Given the description of an element on the screen output the (x, y) to click on. 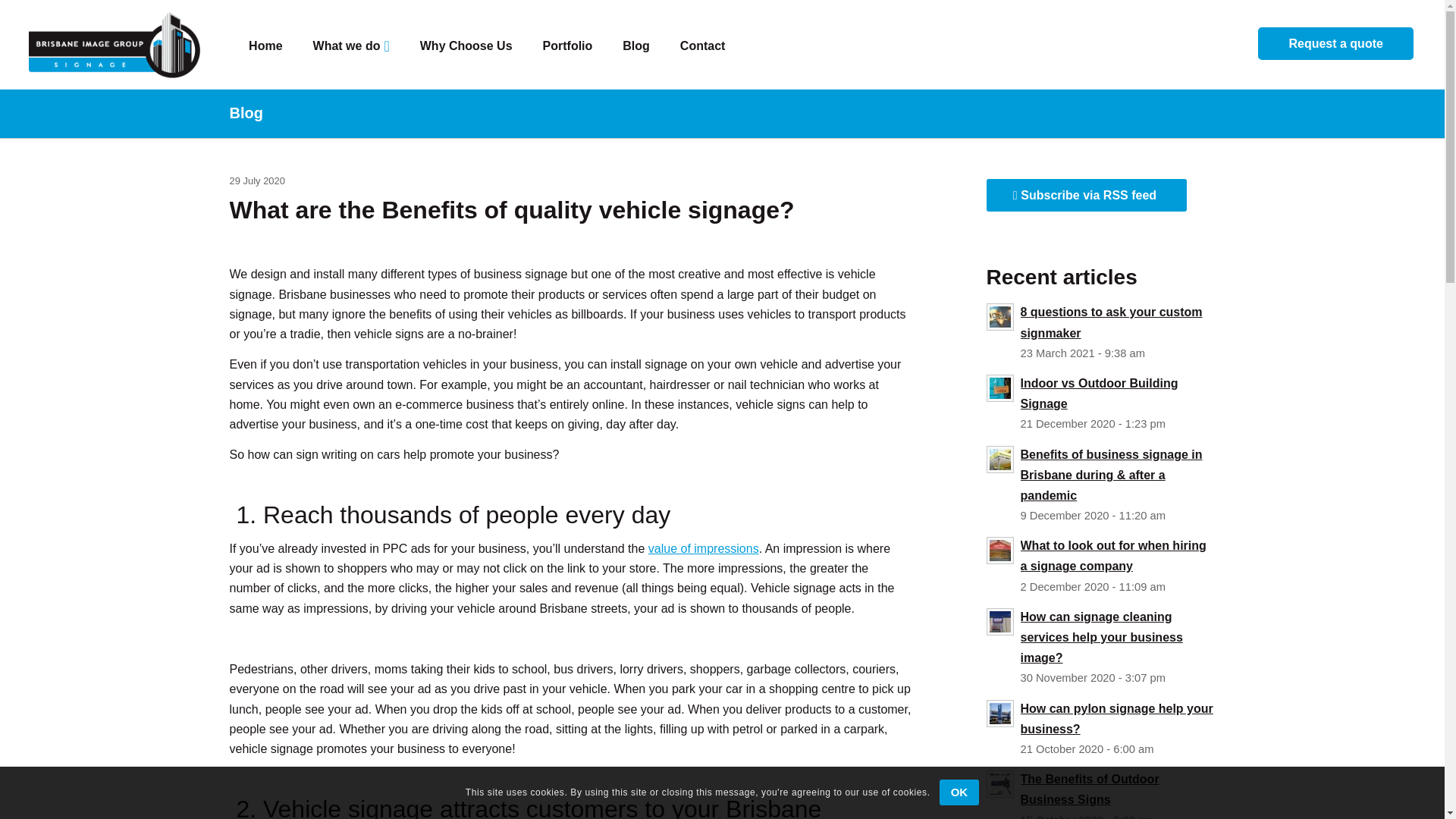
Read: 8 questions to ask your custom signmaker (999, 316)
8 questions to ask your custom signmaker (1111, 322)
What we do (351, 44)
Read: Indoor vs Outdoor Building Signage (1098, 393)
Subscribe via RSS feed (1085, 195)
Brisbane Image Group Logo (114, 44)
Blog (245, 112)
Indoor vs Outdoor Building Signage (1098, 393)
Portfolio (567, 44)
Read: Indoor vs Outdoor Building Signage (999, 388)
